Given the description of an element on the screen output the (x, y) to click on. 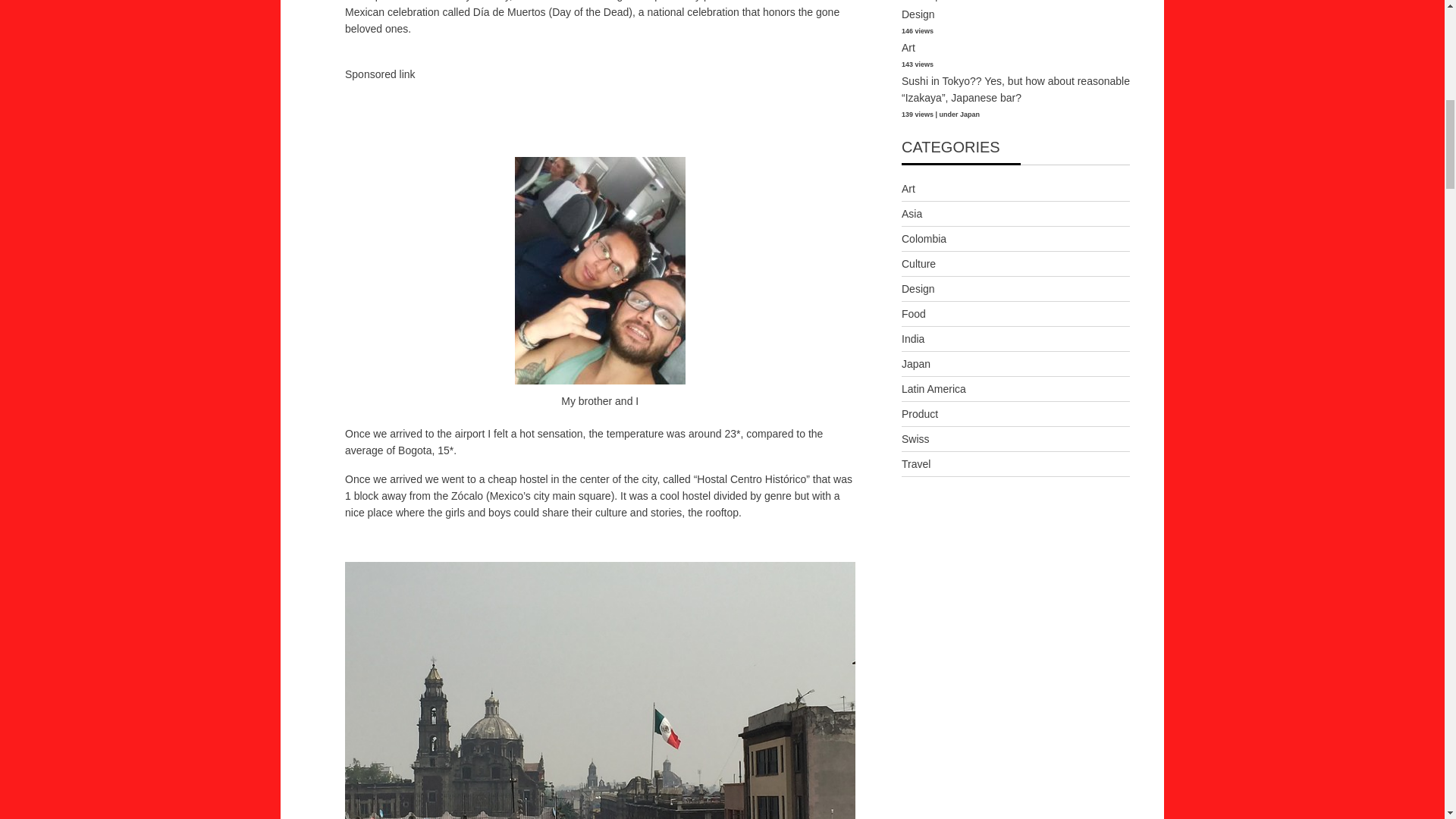
Art (908, 47)
Design (917, 14)
